Given the description of an element on the screen output the (x, y) to click on. 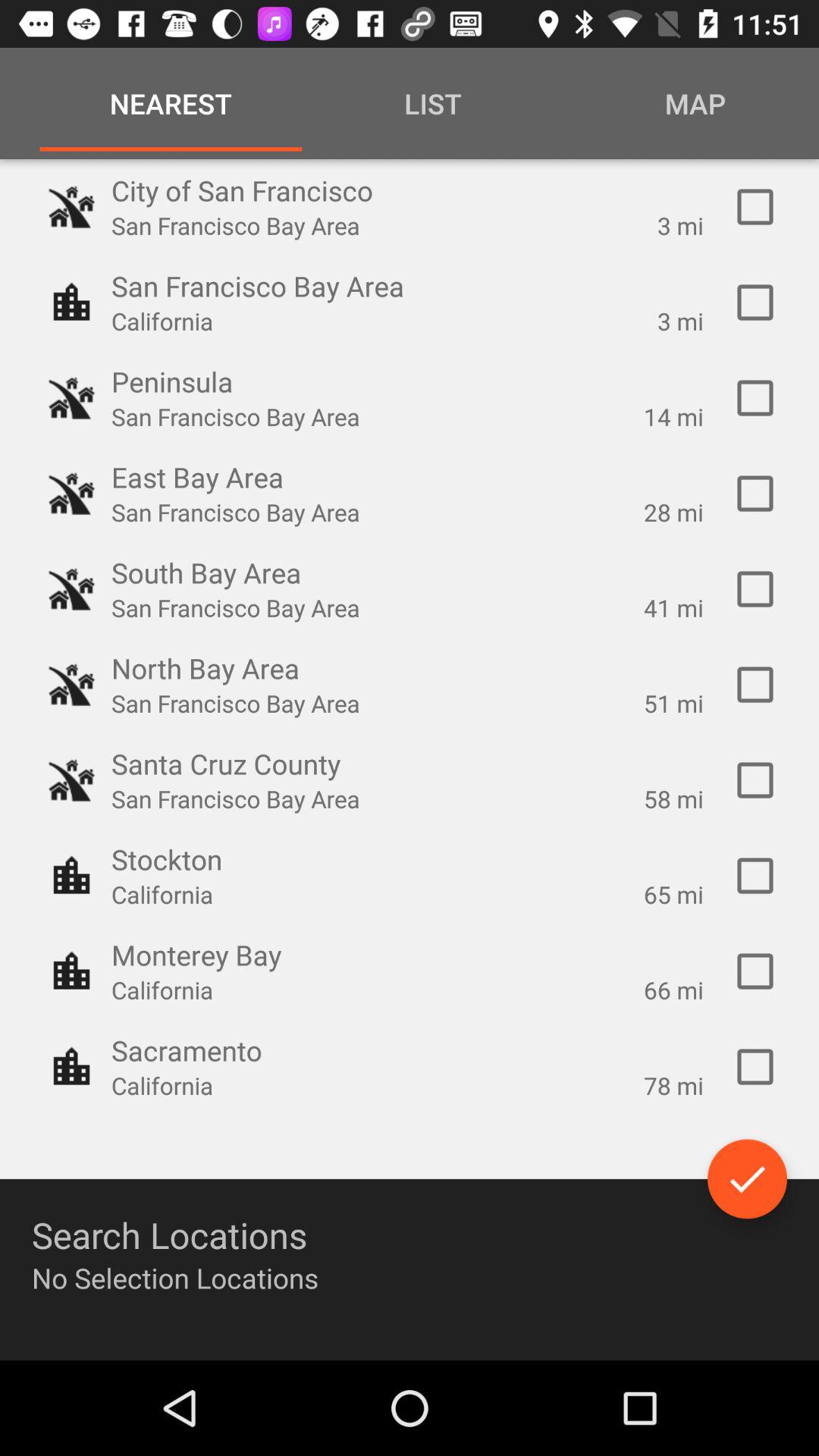
check option (755, 493)
